Given the description of an element on the screen output the (x, y) to click on. 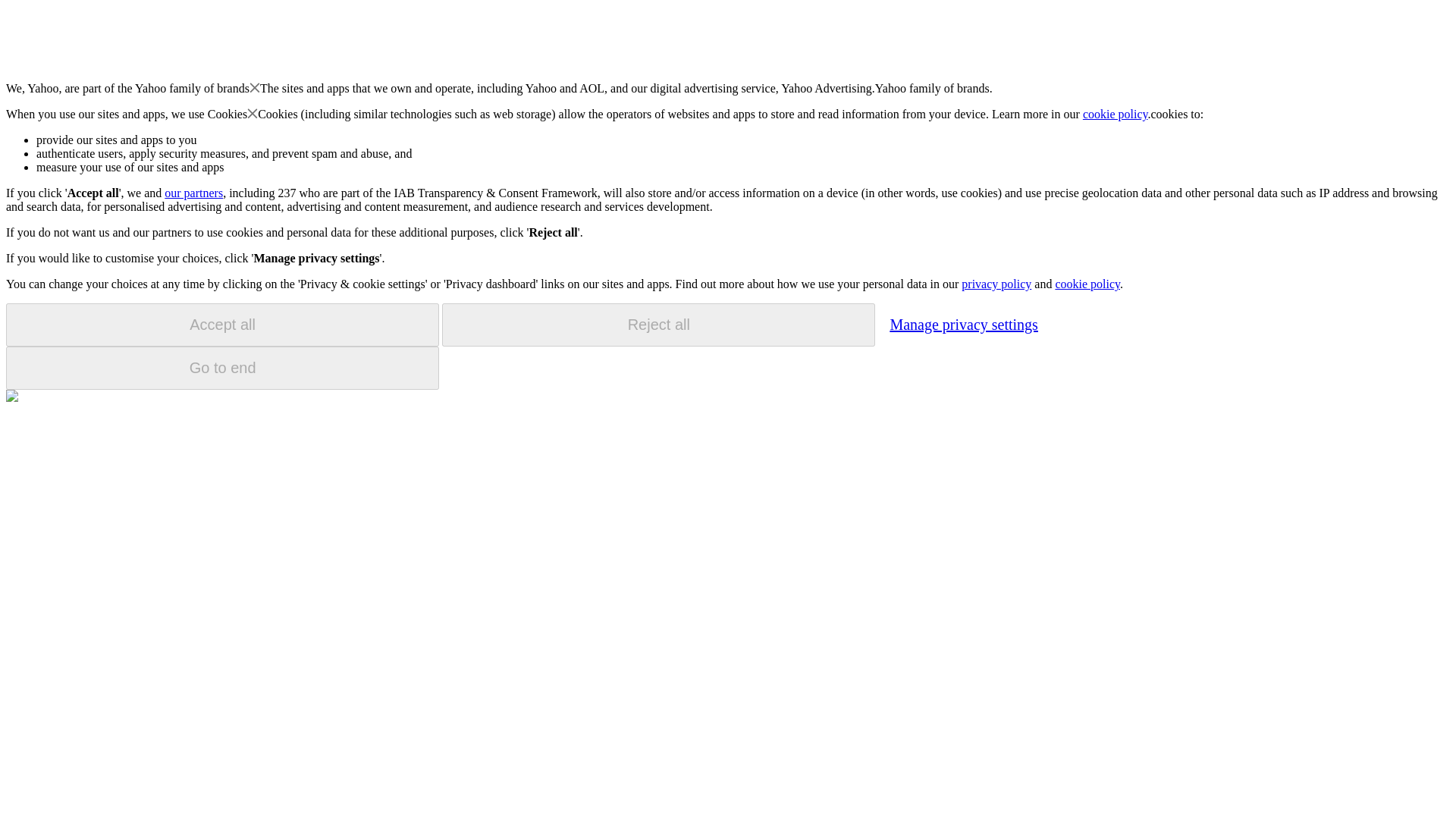
privacy policy (995, 283)
cookie policy (1115, 113)
Accept all (222, 324)
our partners (193, 192)
cookie policy (1086, 283)
Reject all (658, 324)
Manage privacy settings (963, 323)
Go to end (222, 367)
